Given the description of an element on the screen output the (x, y) to click on. 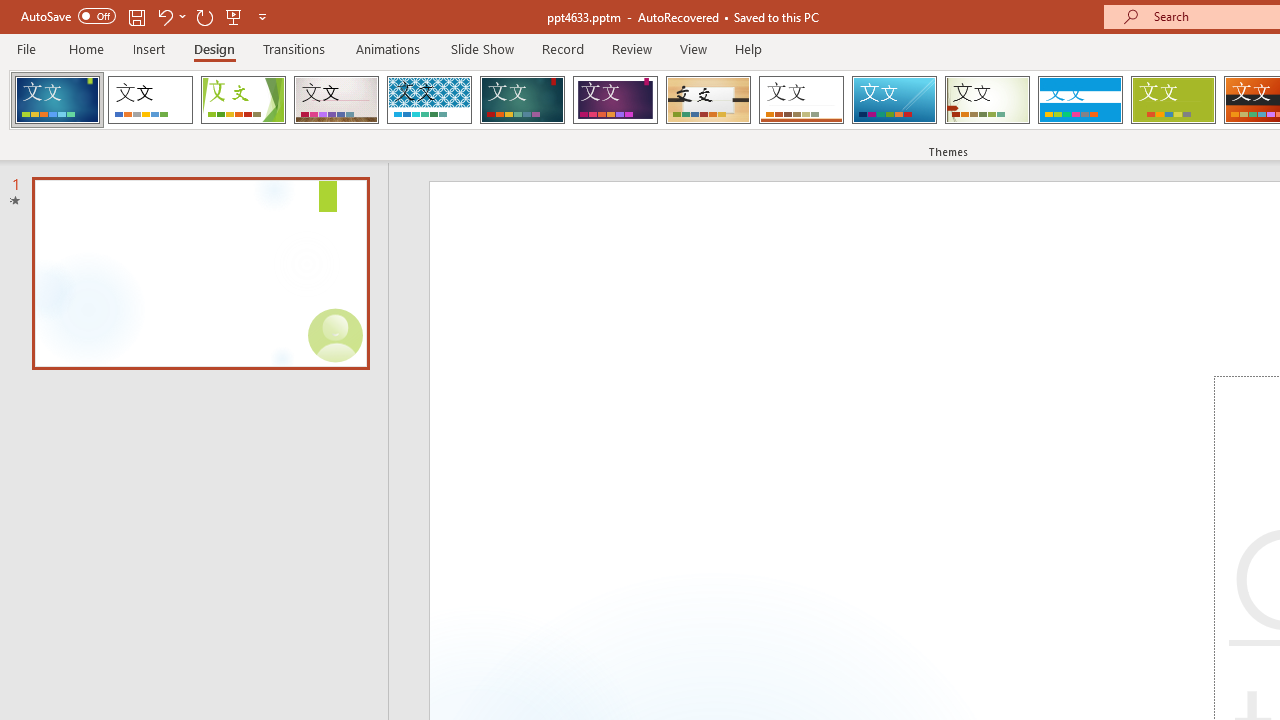
AutoSave (68, 16)
Customize Quick Access Toolbar (262, 15)
Insert (149, 48)
Basis Loading Preview... (1172, 100)
